Given the description of an element on the screen output the (x, y) to click on. 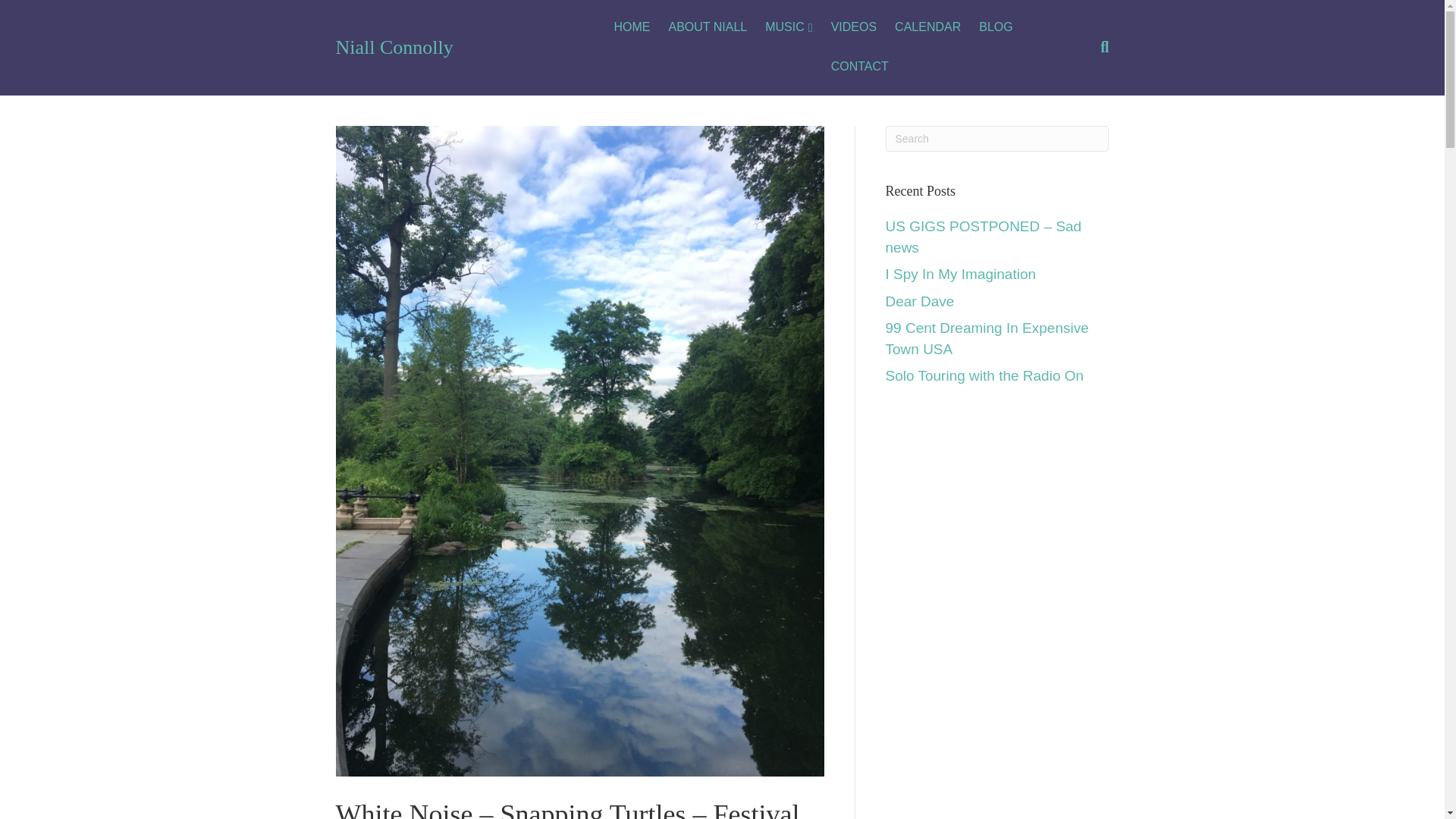
VIDEOS (853, 26)
MUSIC (788, 27)
CALENDAR (927, 26)
Niall Connolly (457, 47)
HOME (631, 26)
BLOG (995, 26)
Type and press Enter to search. (997, 138)
CONTACT (860, 66)
Solo Touring with the Radio On (984, 375)
99 Cent Dreaming In Expensive Town USA (987, 338)
ABOUT NIALL (707, 26)
Dear Dave (920, 301)
I Spy In My Imagination (960, 273)
